Given the description of an element on the screen output the (x, y) to click on. 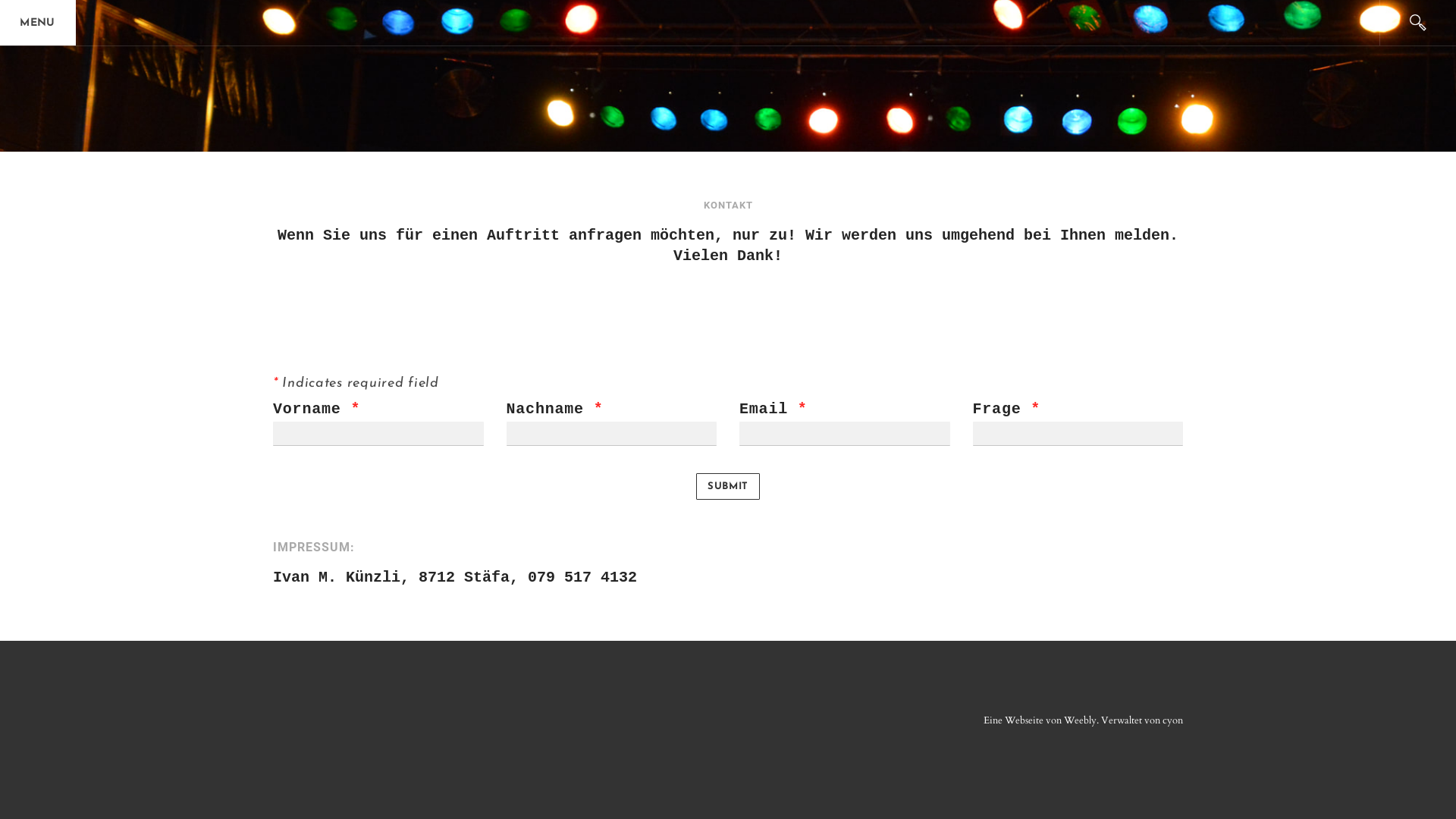
SUBMIT Element type: text (727, 486)
cyon Element type: text (1172, 720)
